Given the description of an element on the screen output the (x, y) to click on. 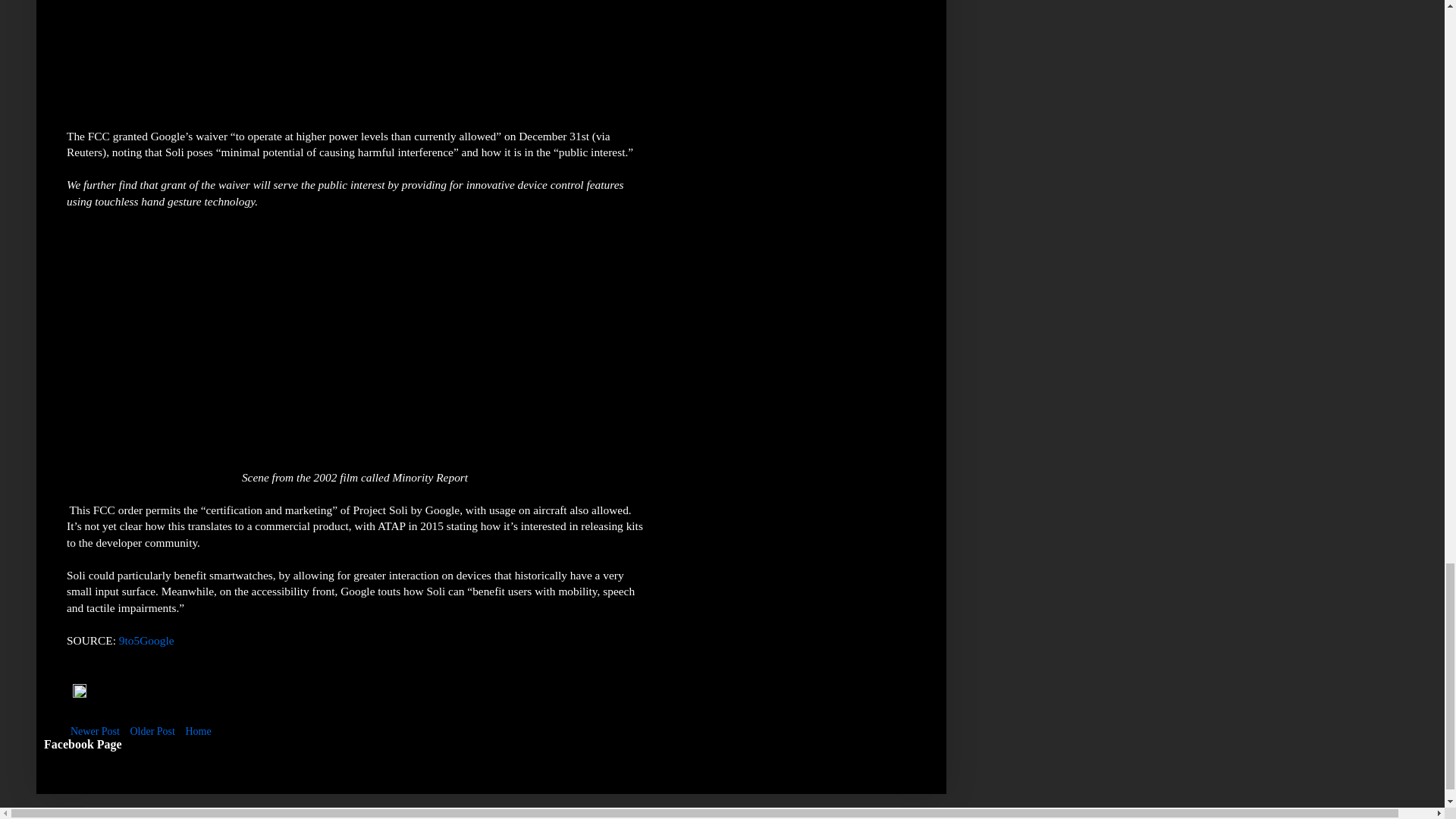
Older Post (152, 731)
Newer Post (94, 731)
Older Post (152, 731)
Home (197, 731)
Edit Post (78, 694)
9to5Google (146, 640)
Newer Post (94, 731)
